Given the description of an element on the screen output the (x, y) to click on. 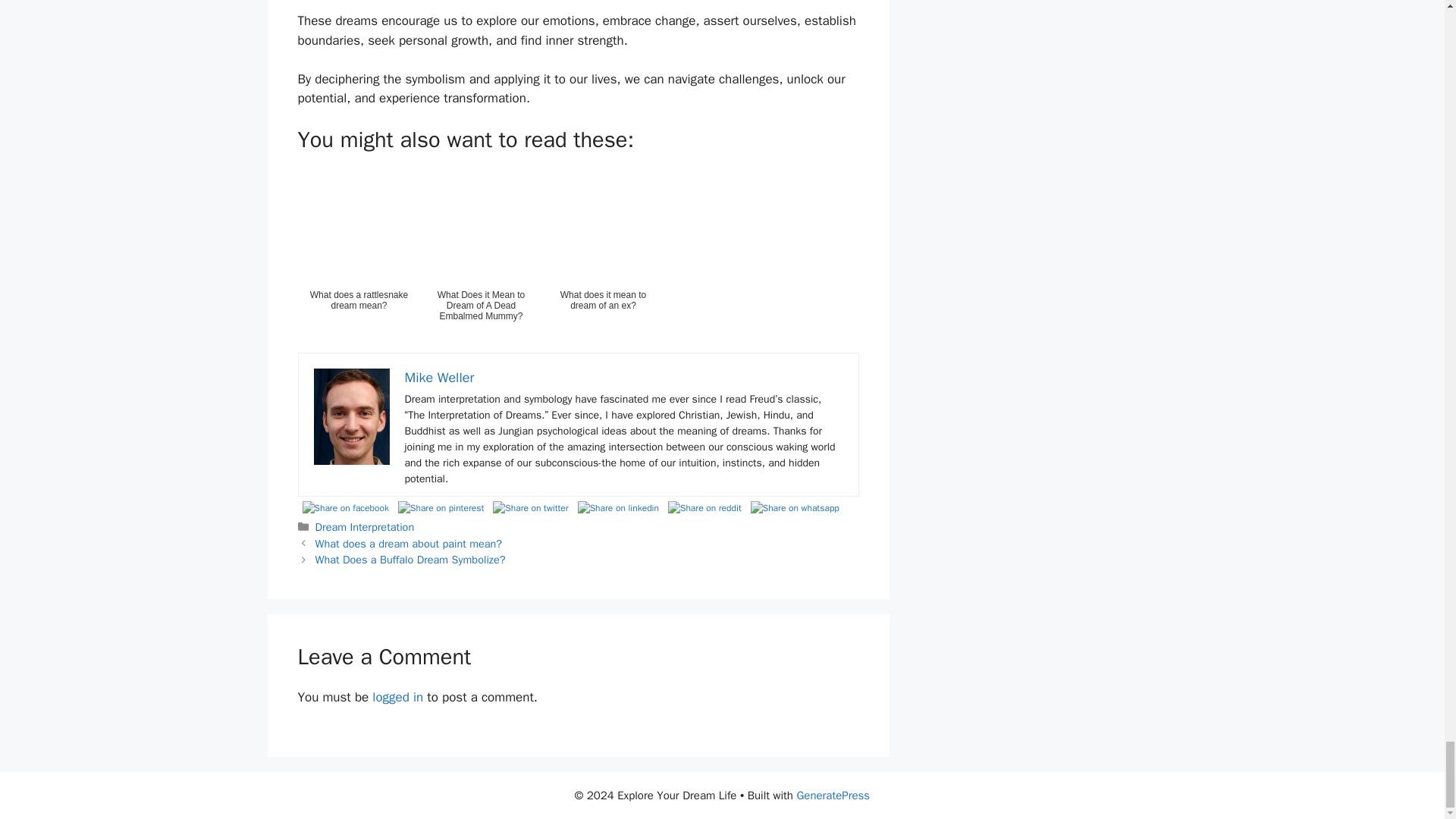
twitter (529, 507)
facebook (345, 507)
pinterest (440, 507)
reddit (704, 507)
linkedin (618, 507)
Mike Weller (439, 377)
